Given the description of an element on the screen output the (x, y) to click on. 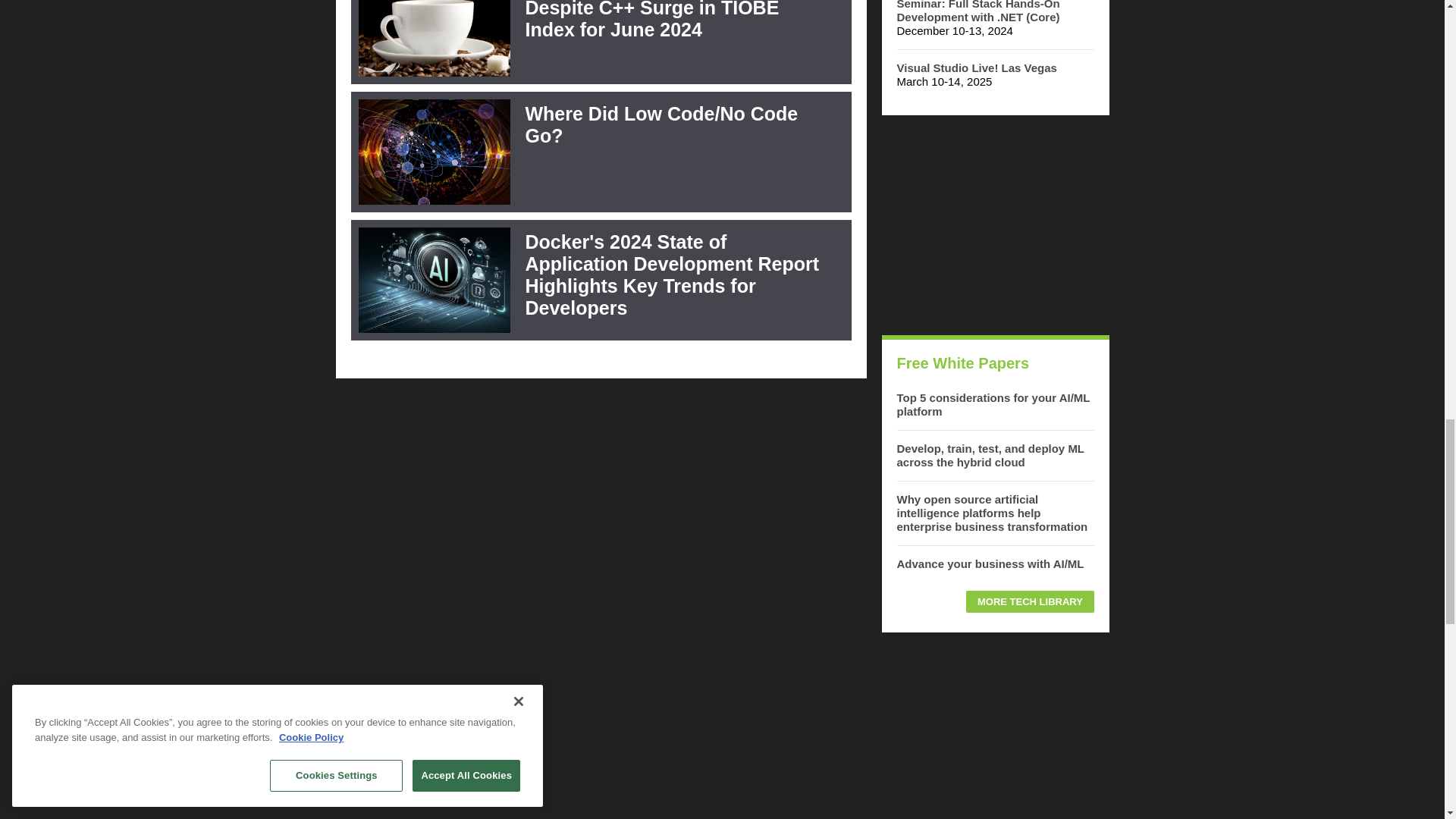
3rd party ad content (994, 225)
3rd party ad content (994, 733)
